Given the description of an element on the screen output the (x, y) to click on. 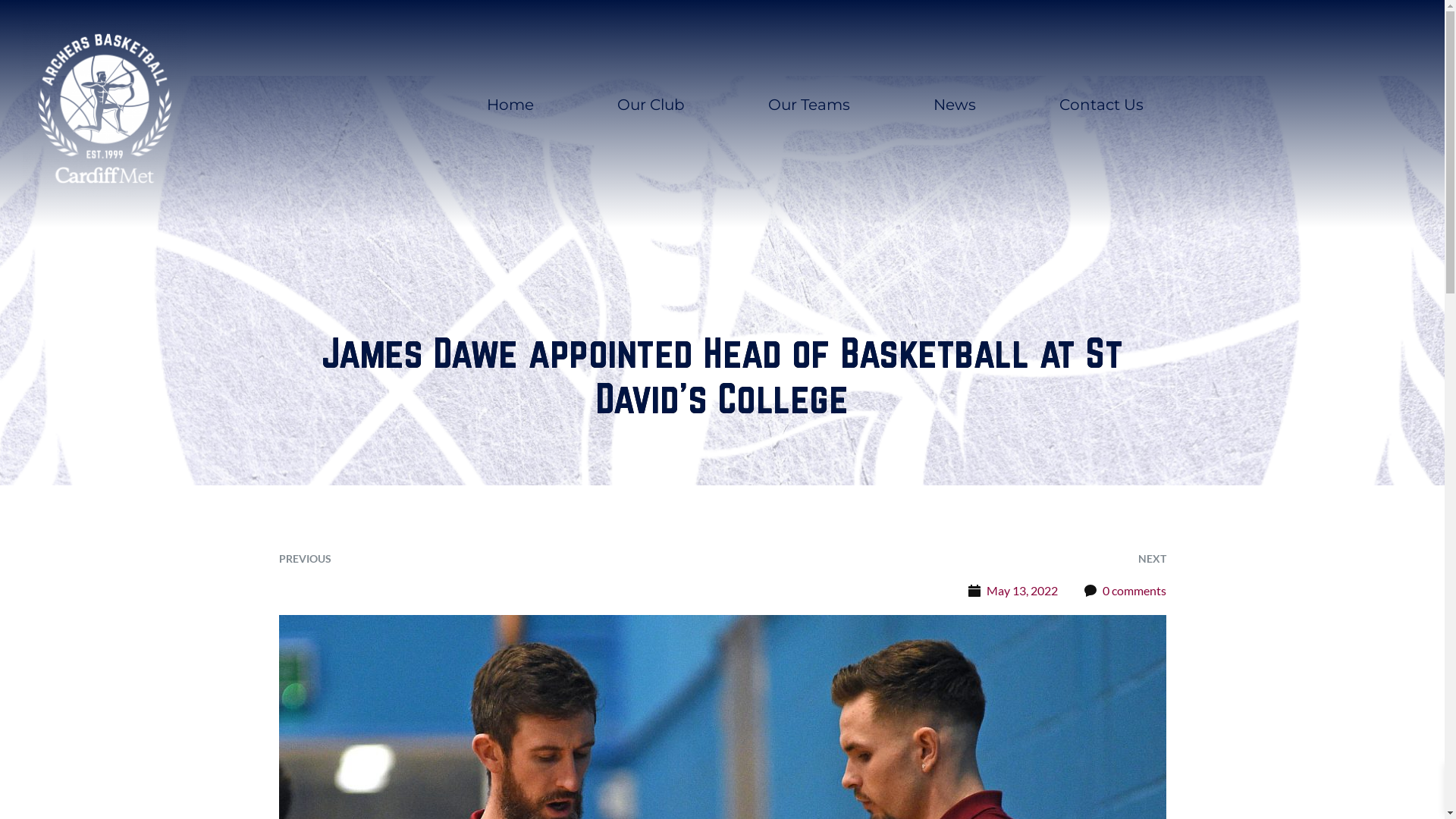
Contact Us Element type: text (1101, 104)
Home Element type: text (510, 104)
News Element type: text (954, 104)
NEXT Element type: text (1151, 558)
Our Teams Element type: text (808, 104)
Our Club Element type: text (650, 104)
PREVIOUS Element type: text (305, 558)
